Given the description of an element on the screen output the (x, y) to click on. 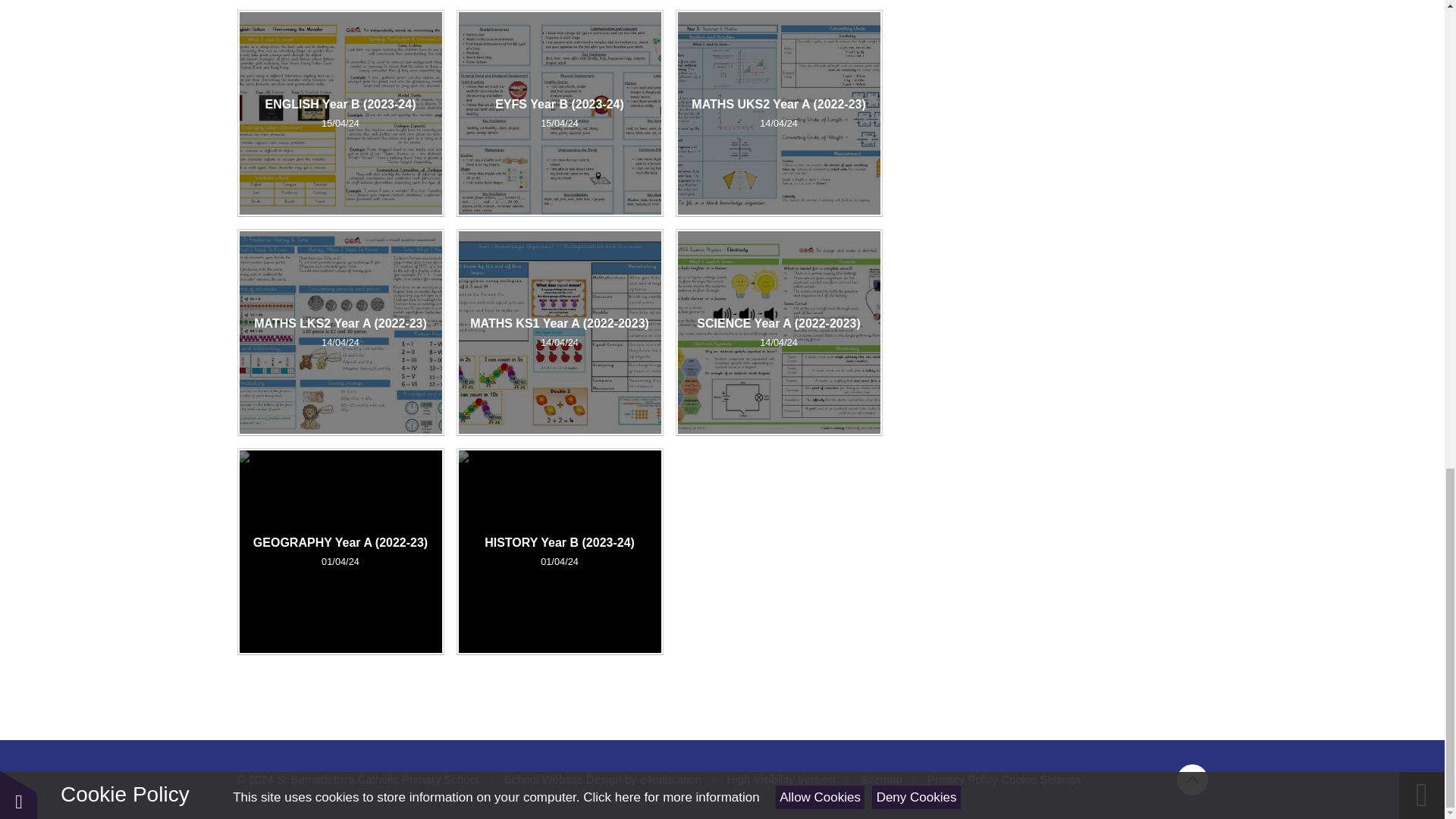
Cookie Settings (1040, 779)
